Given the description of an element on the screen output the (x, y) to click on. 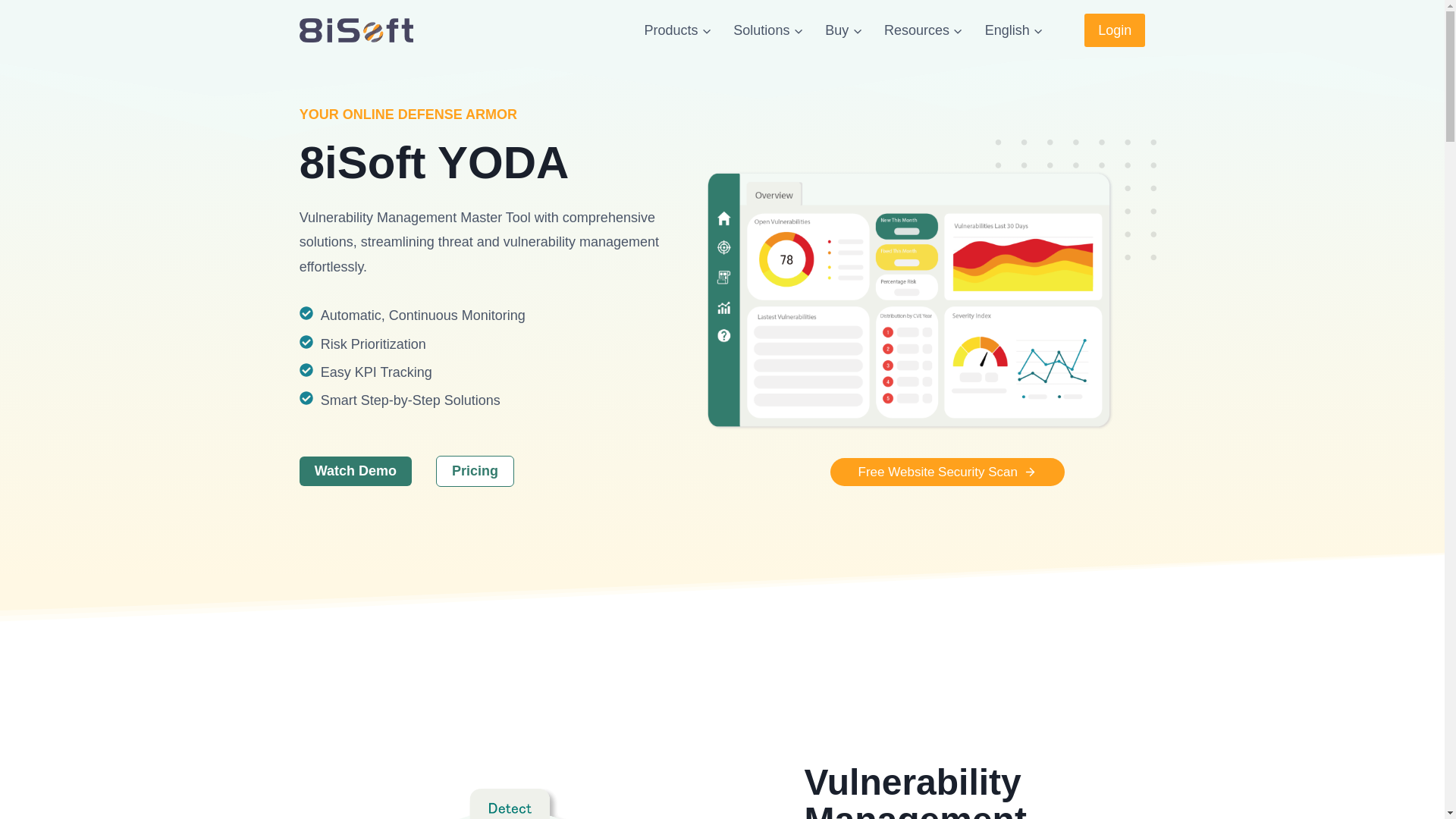
Resources (923, 29)
Buy (843, 29)
Watch Demo (355, 471)
Products (677, 29)
Free Website Security Scan (946, 471)
Login (1114, 29)
Solutions (767, 29)
English (1014, 29)
Pricing (474, 470)
